Given the description of an element on the screen output the (x, y) to click on. 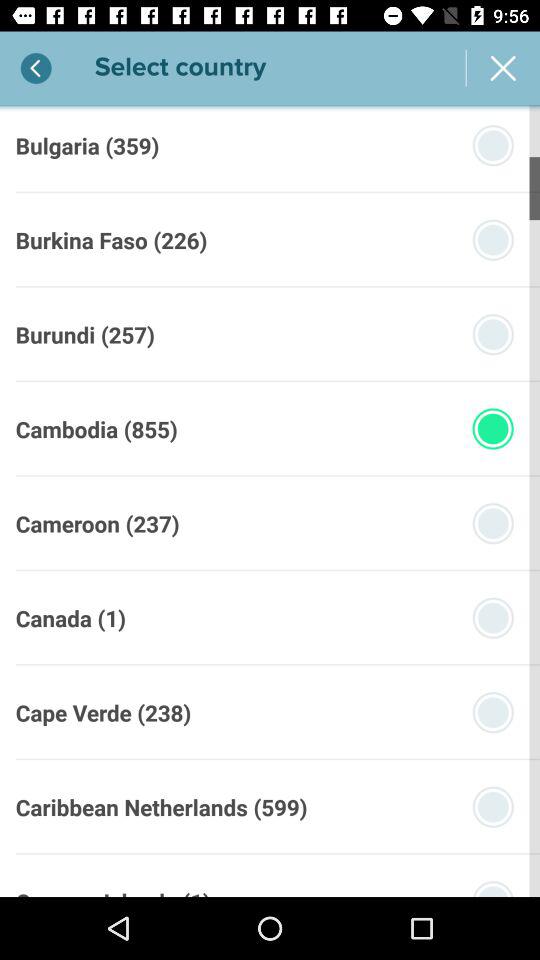
flip until burundi (257) item (84, 334)
